Given the description of an element on the screen output the (x, y) to click on. 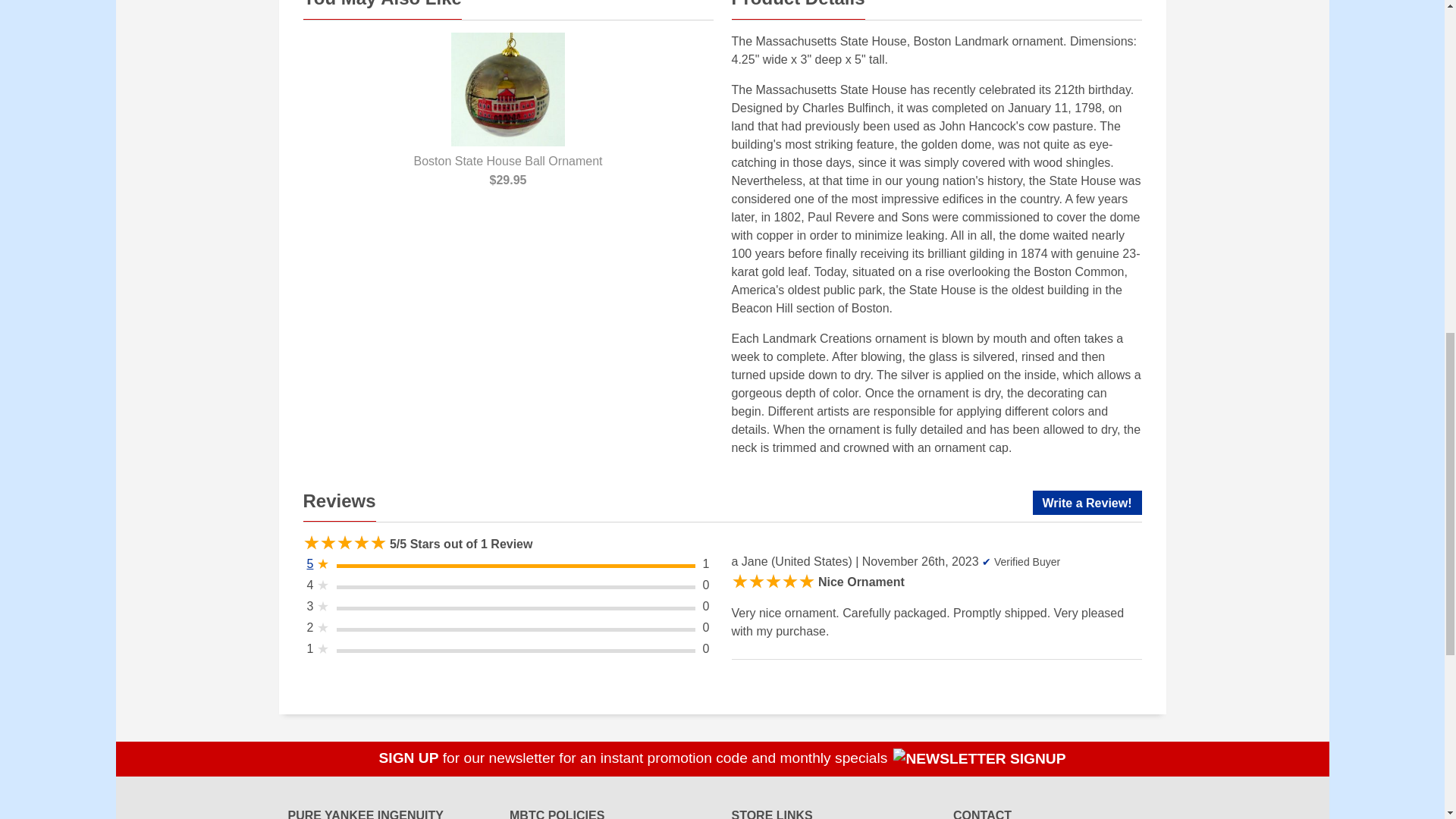
0 Review out of 1 are rated 4 (515, 584)
1 Review out of 1 are rated 5 (515, 563)
0 Review out of 1 are rated 3 (515, 606)
Boston State House Ball Ornament (507, 89)
5 out of 5. (344, 542)
